Given the description of an element on the screen output the (x, y) to click on. 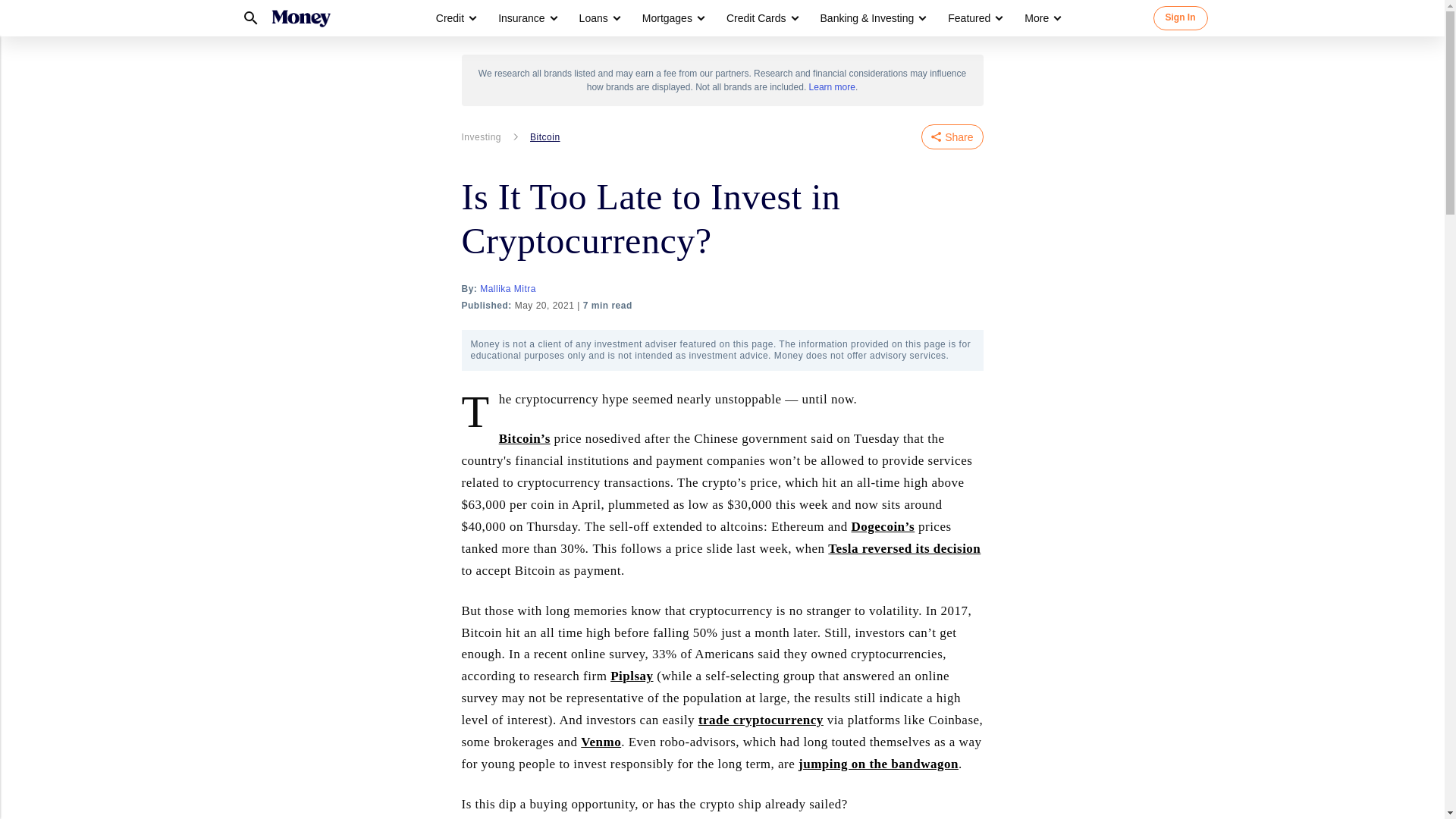
Insurance (526, 18)
Credit (449, 18)
Credit Cards (761, 18)
Mortgages (667, 18)
Mortgages (672, 18)
Credit (455, 18)
Credit Cards (756, 18)
Loans (593, 18)
Loans (598, 18)
Insurance (520, 18)
